Given the description of an element on the screen output the (x, y) to click on. 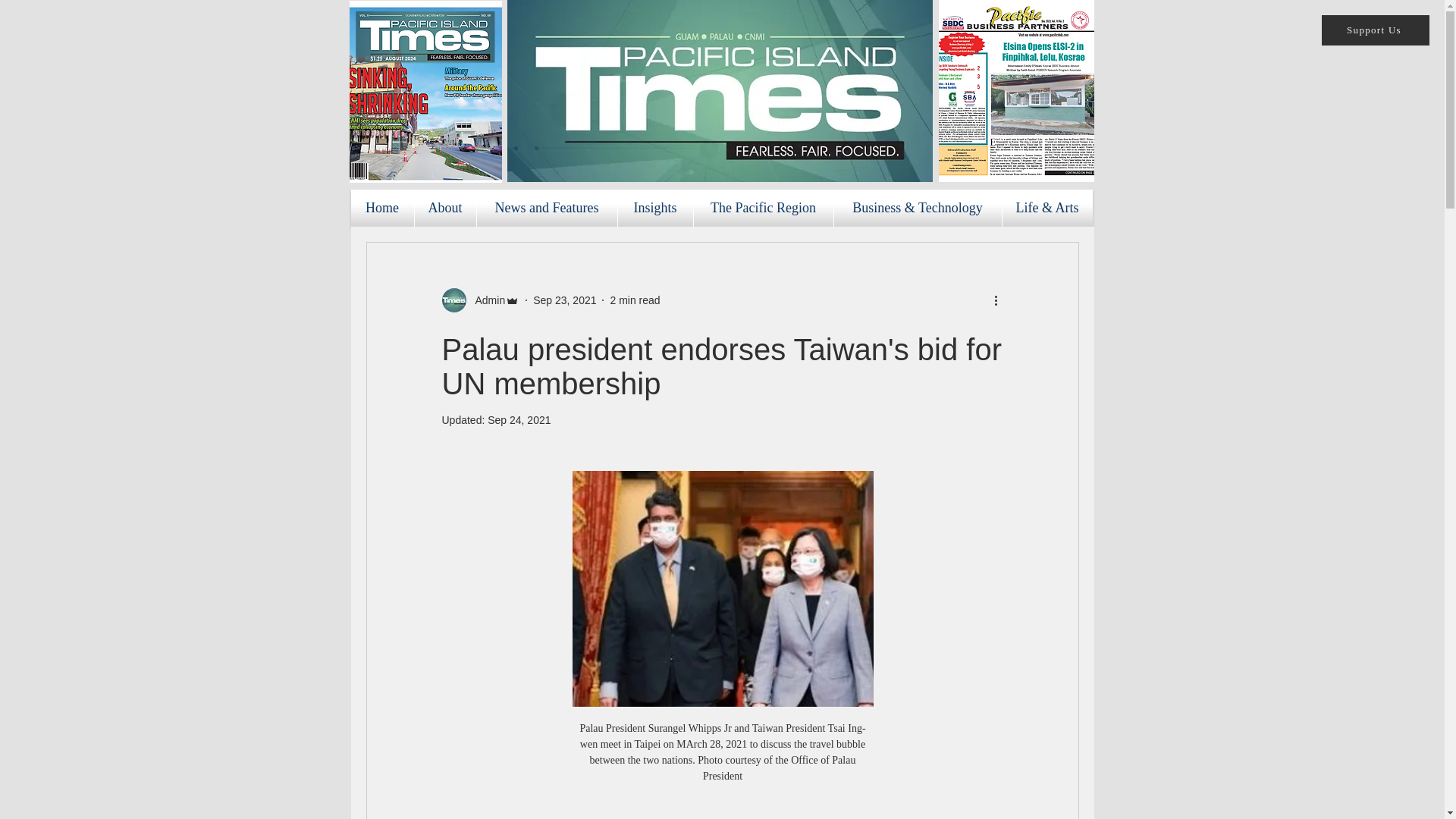
News and Features (545, 207)
Sep 24, 2021 (518, 419)
About (444, 207)
Home (381, 207)
2 min read (634, 300)
The Pacific Region (762, 207)
Sep 23, 2021 (563, 300)
Insights (655, 207)
Support Us (1375, 30)
Admin (485, 300)
